Given the description of an element on the screen output the (x, y) to click on. 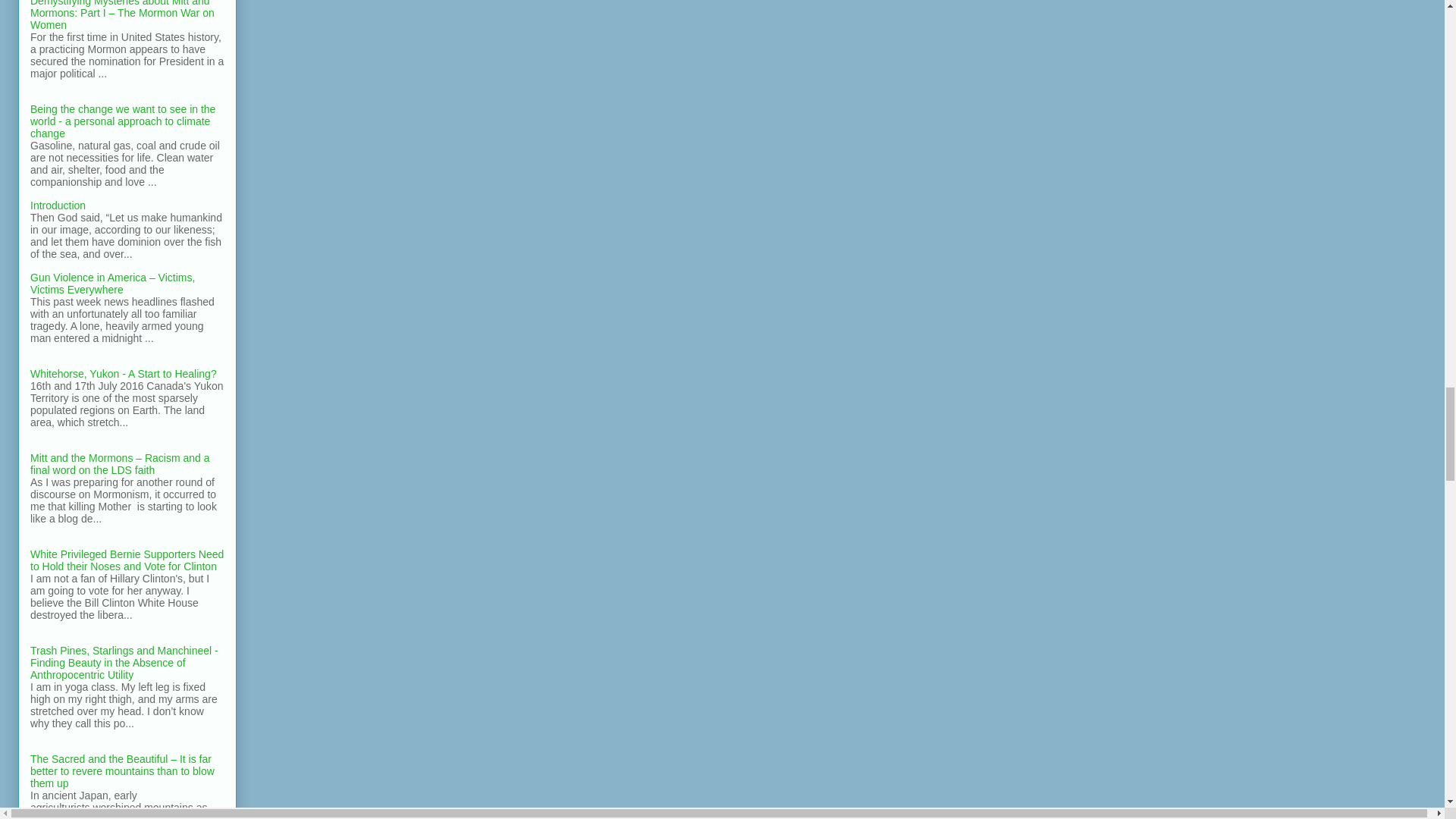
Whitehorse, Yukon - A Start to Healing? (123, 373)
Introduction (57, 205)
